Given the description of an element on the screen output the (x, y) to click on. 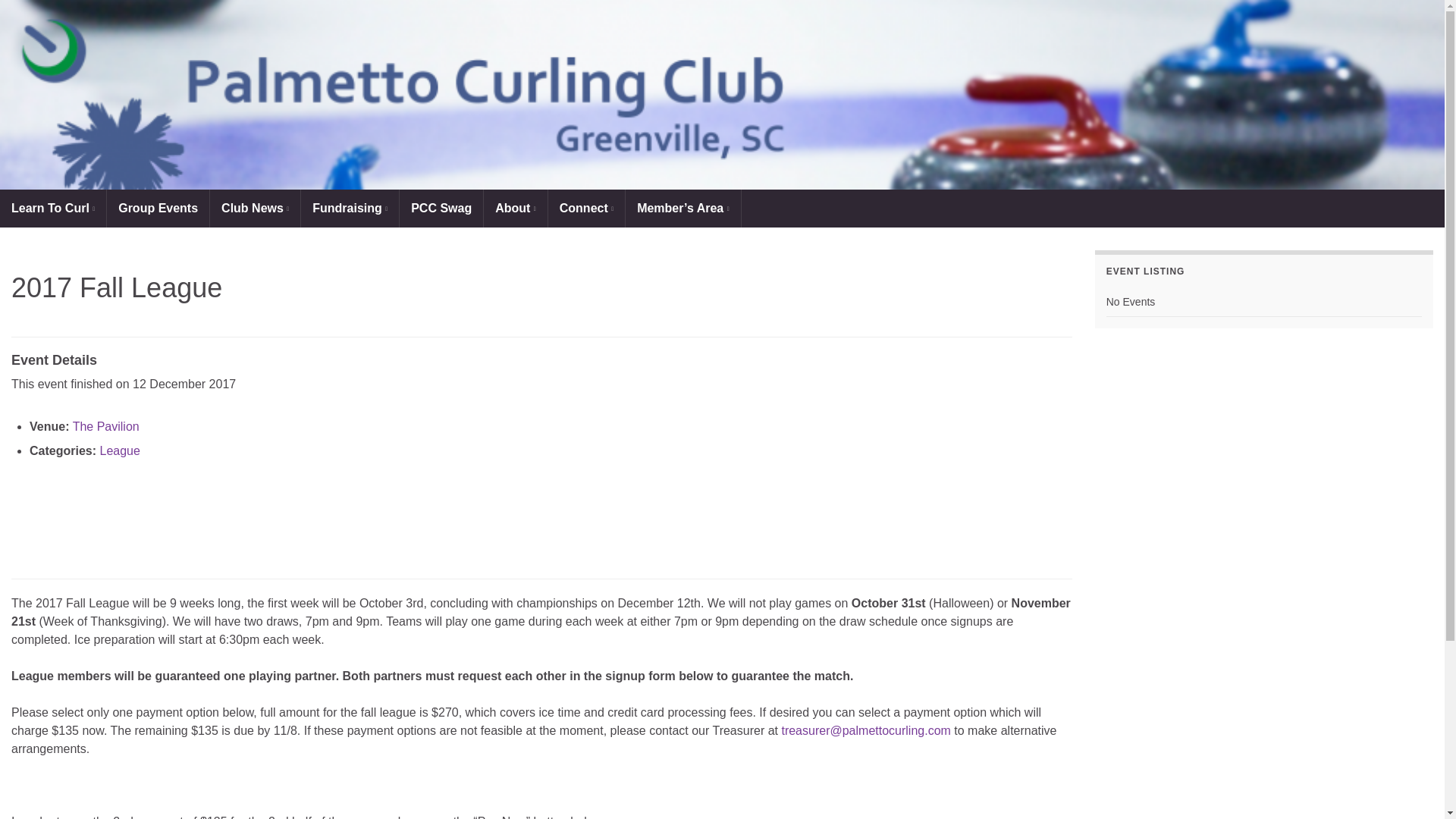
PCC Swag (440, 208)
Learn To Curl (53, 208)
League (119, 450)
Fundraising (349, 208)
Connect (586, 208)
Club News (254, 208)
Group Events (157, 208)
The Pavilion (105, 426)
About (515, 208)
